Given the description of an element on the screen output the (x, y) to click on. 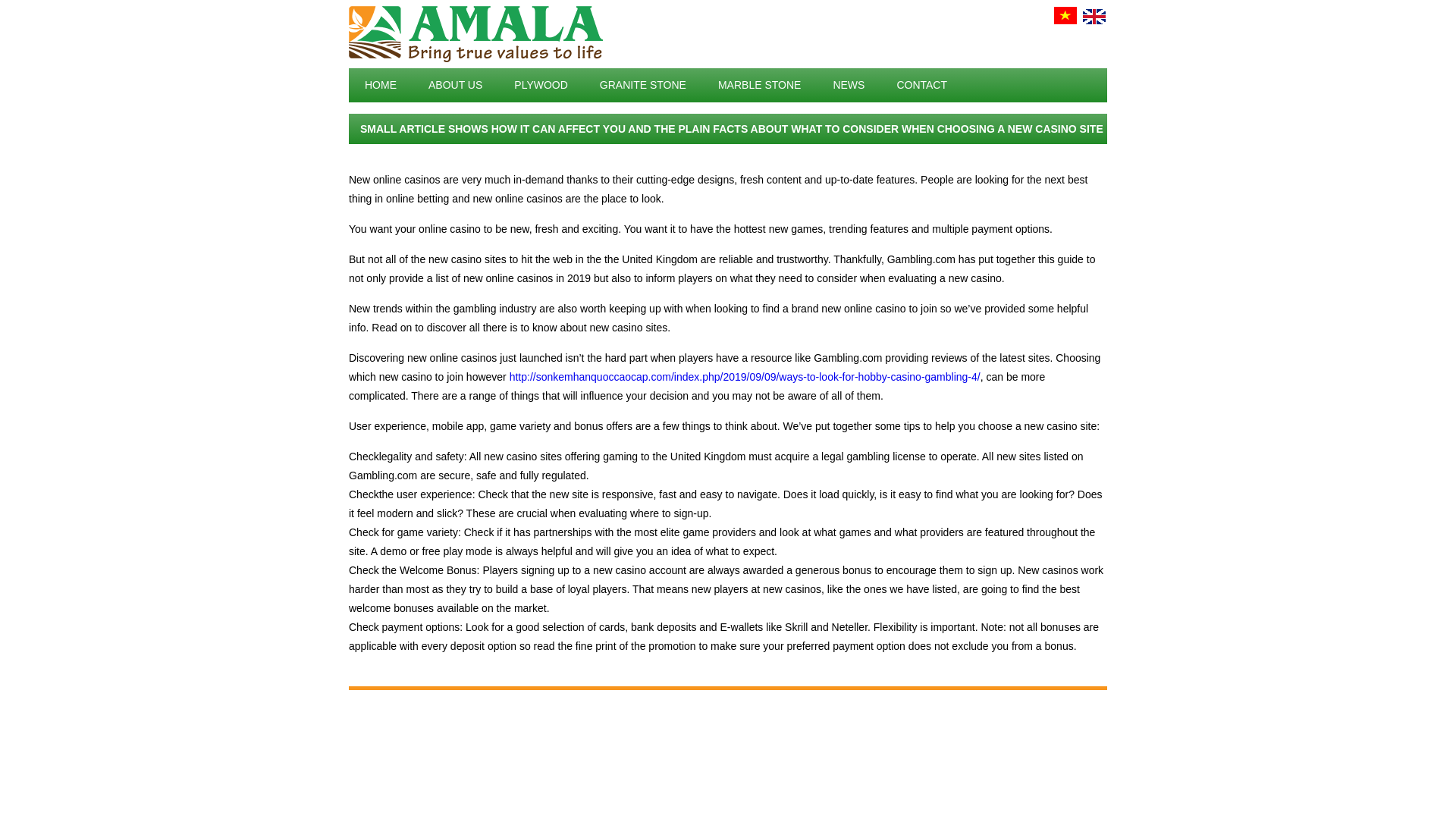
CONTACT (921, 84)
NEWS (848, 84)
ABOUT US (454, 84)
PLYWOOD (540, 84)
HOME (380, 84)
GRANITE STONE (642, 84)
MARBLE STONE (758, 84)
